Given the description of an element on the screen output the (x, y) to click on. 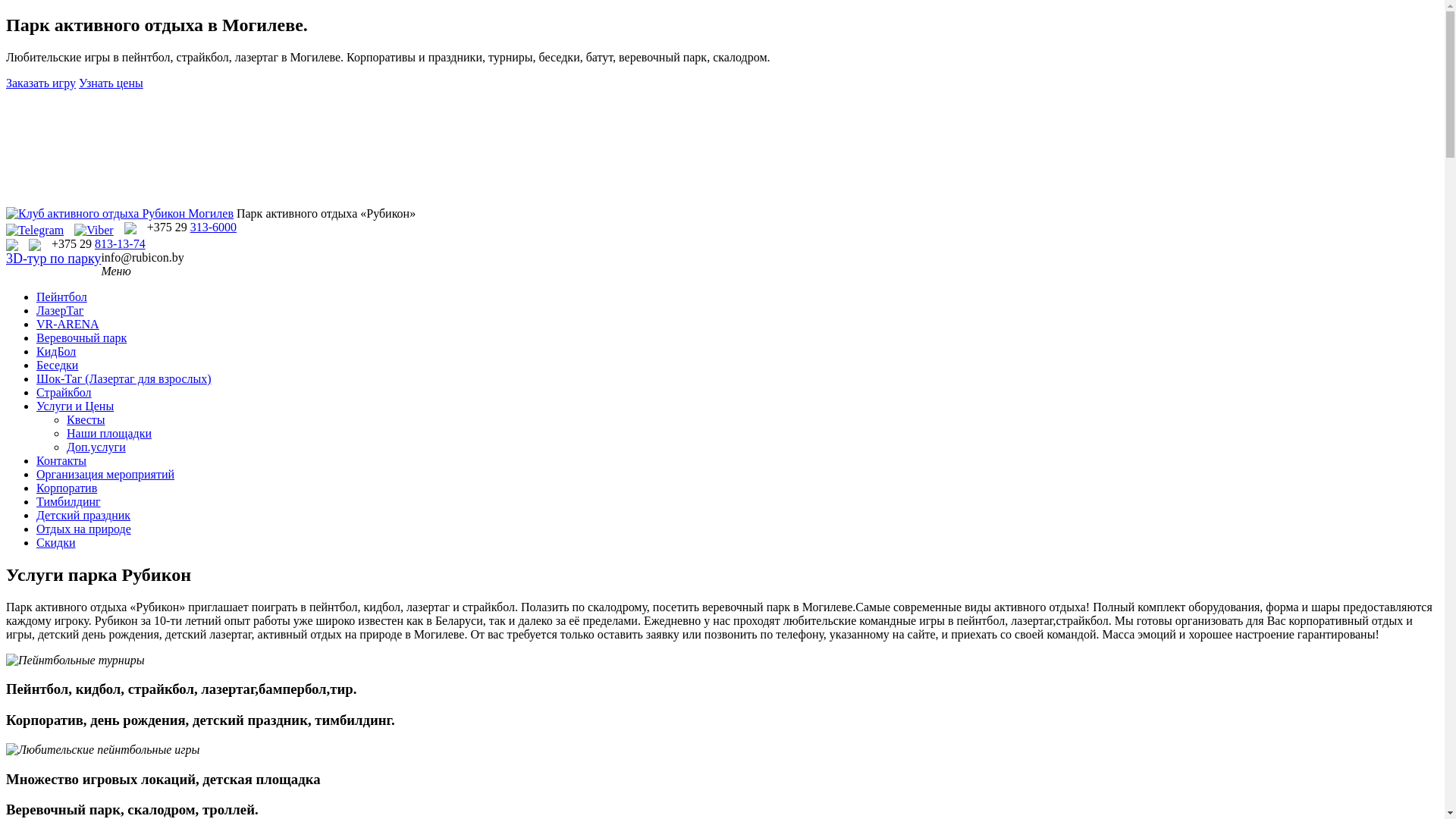
VR-ARENA Element type: text (67, 323)
313-6000 Element type: text (213, 226)
813-13-74 Element type: text (119, 243)
